Given the description of an element on the screen output the (x, y) to click on. 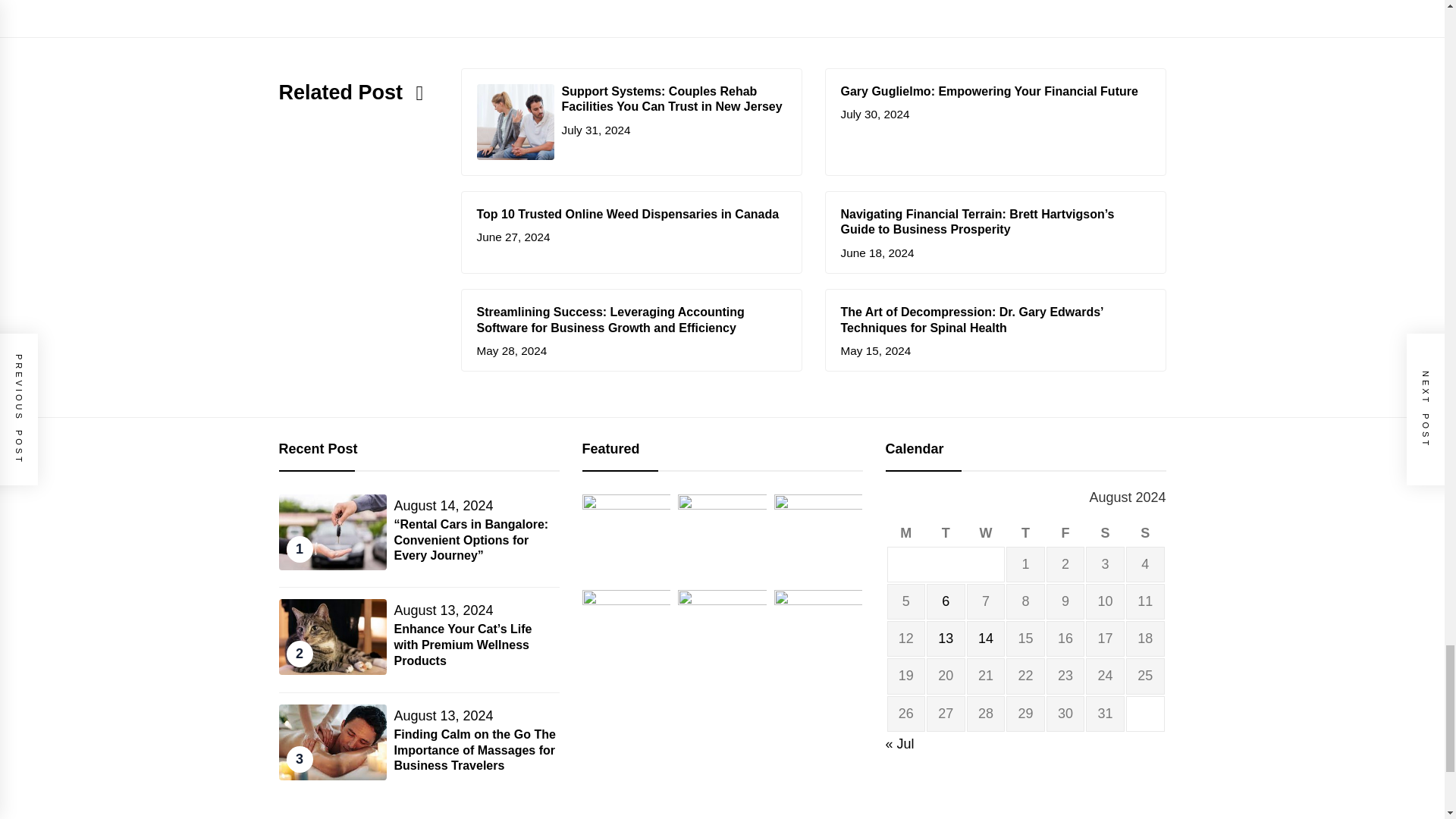
Thursday (1025, 533)
Sunday (1144, 533)
Wednesday (986, 533)
Monday (906, 533)
Friday (1065, 533)
Saturday (1105, 533)
Tuesday (945, 533)
